Given the description of an element on the screen output the (x, y) to click on. 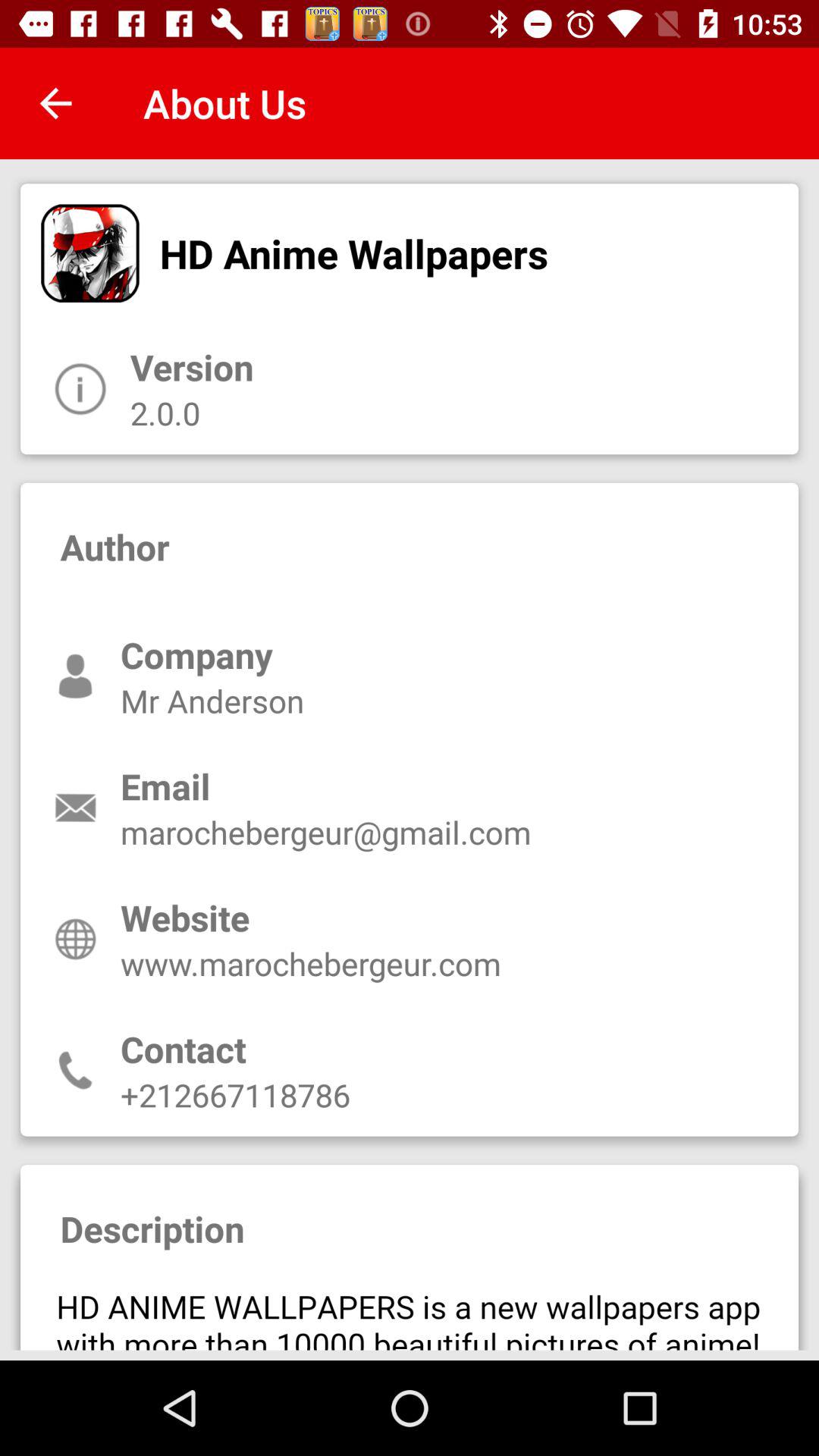
description (409, 1311)
